Given the description of an element on the screen output the (x, y) to click on. 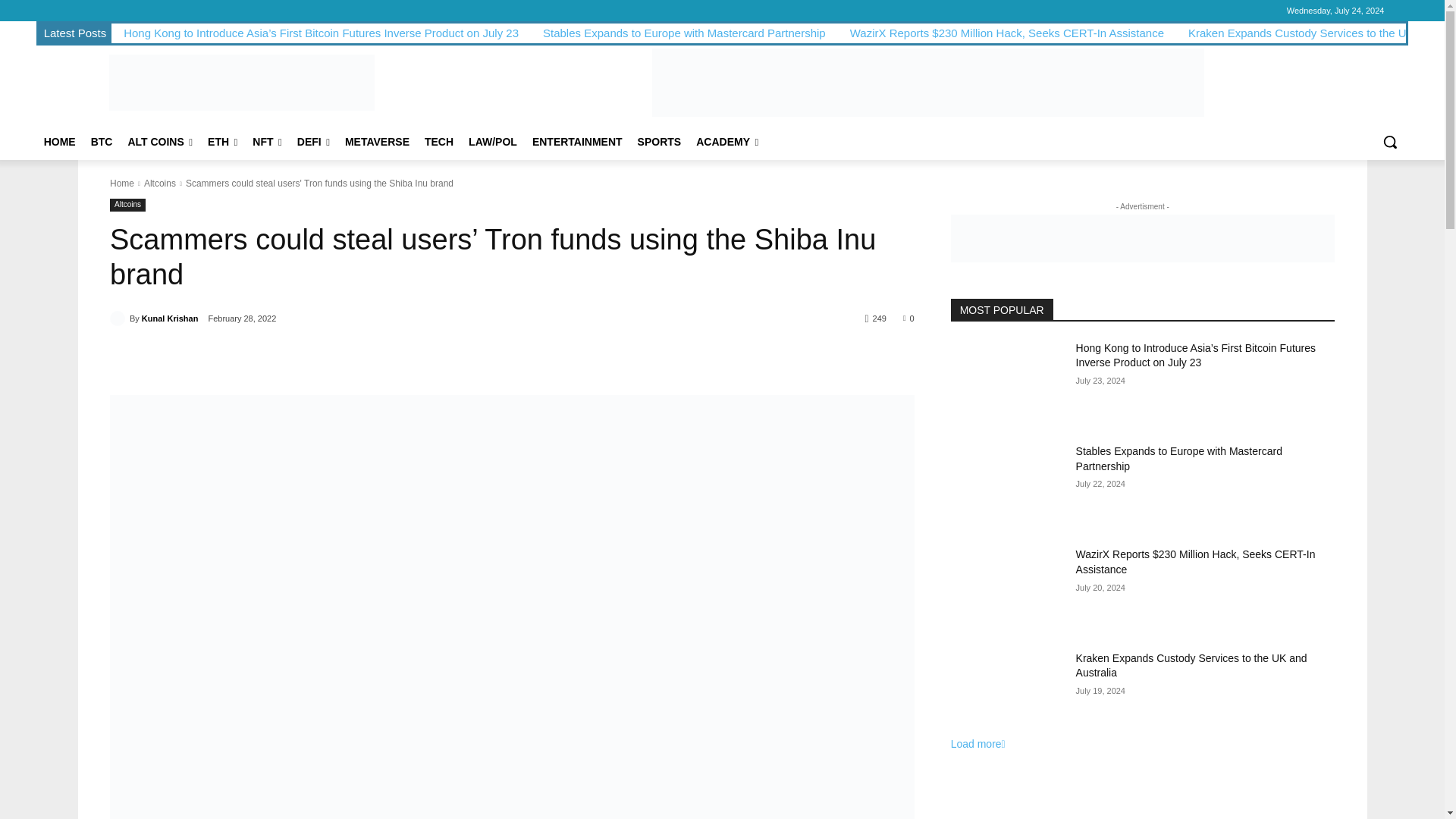
BTC (101, 141)
ALT COINS (159, 141)
HOME (59, 141)
Stables Expands to Europe with Mastercard Partnership (684, 32)
